Given the description of an element on the screen output the (x, y) to click on. 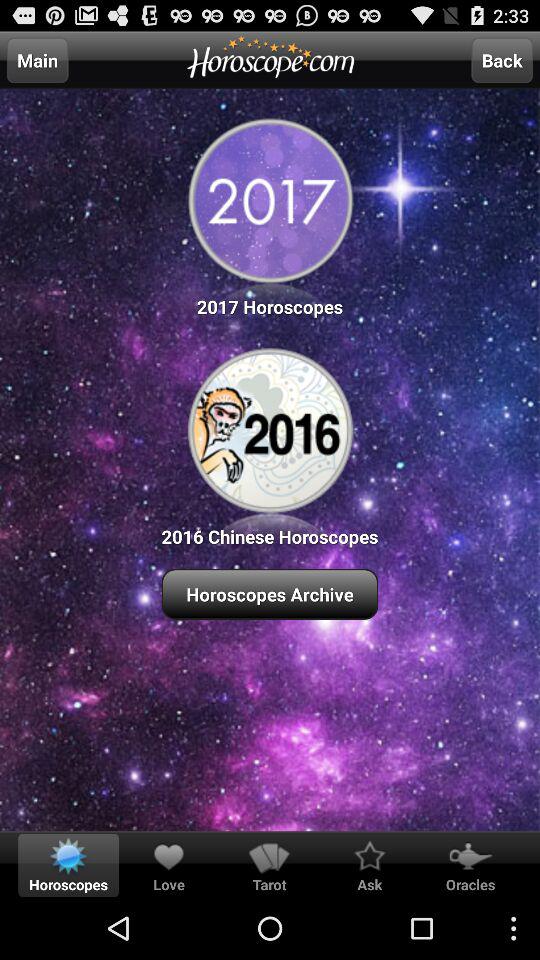
press the item below the 2017 horoscopes icon (269, 443)
